Given the description of an element on the screen output the (x, y) to click on. 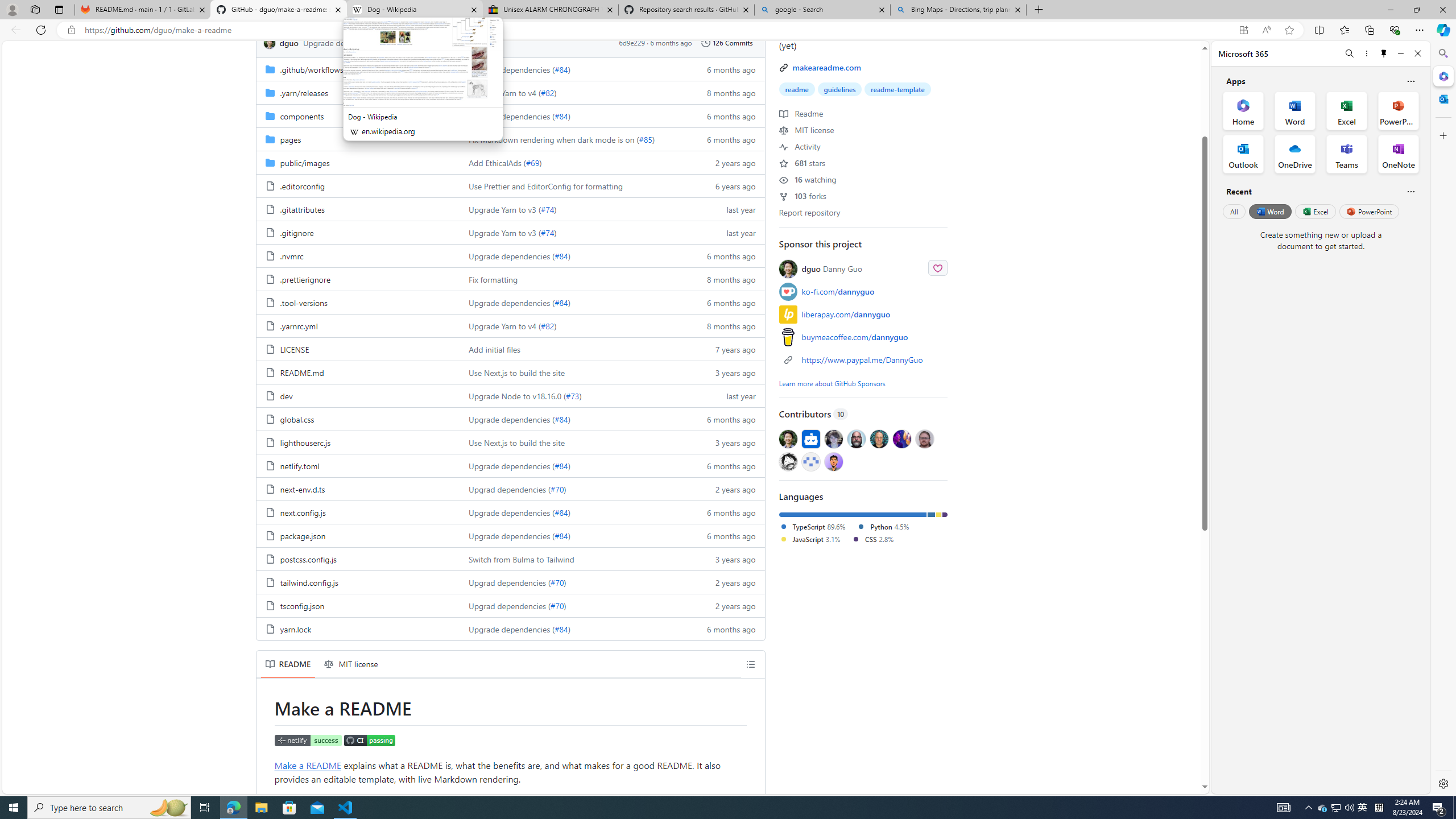
public/images, (Directory) (304, 162)
last year (725, 395)
AutomationID: folder-row-8 (510, 255)
@web3Gurung (833, 461)
README (287, 664)
Use Next.js to build the site (516, 441)
yarn.lock, (File) (295, 628)
commits by dguo (288, 42)
.gitignore, (File) (296, 232)
Restore (1416, 9)
@davidak (833, 438)
Upgrade Yarn to v3 (#74) (573, 232)
Upgrade dependencies (#84) (573, 628)
PowerPoint Office App (1398, 110)
@aranciokov (924, 438)
